Given the description of an element on the screen output the (x, y) to click on. 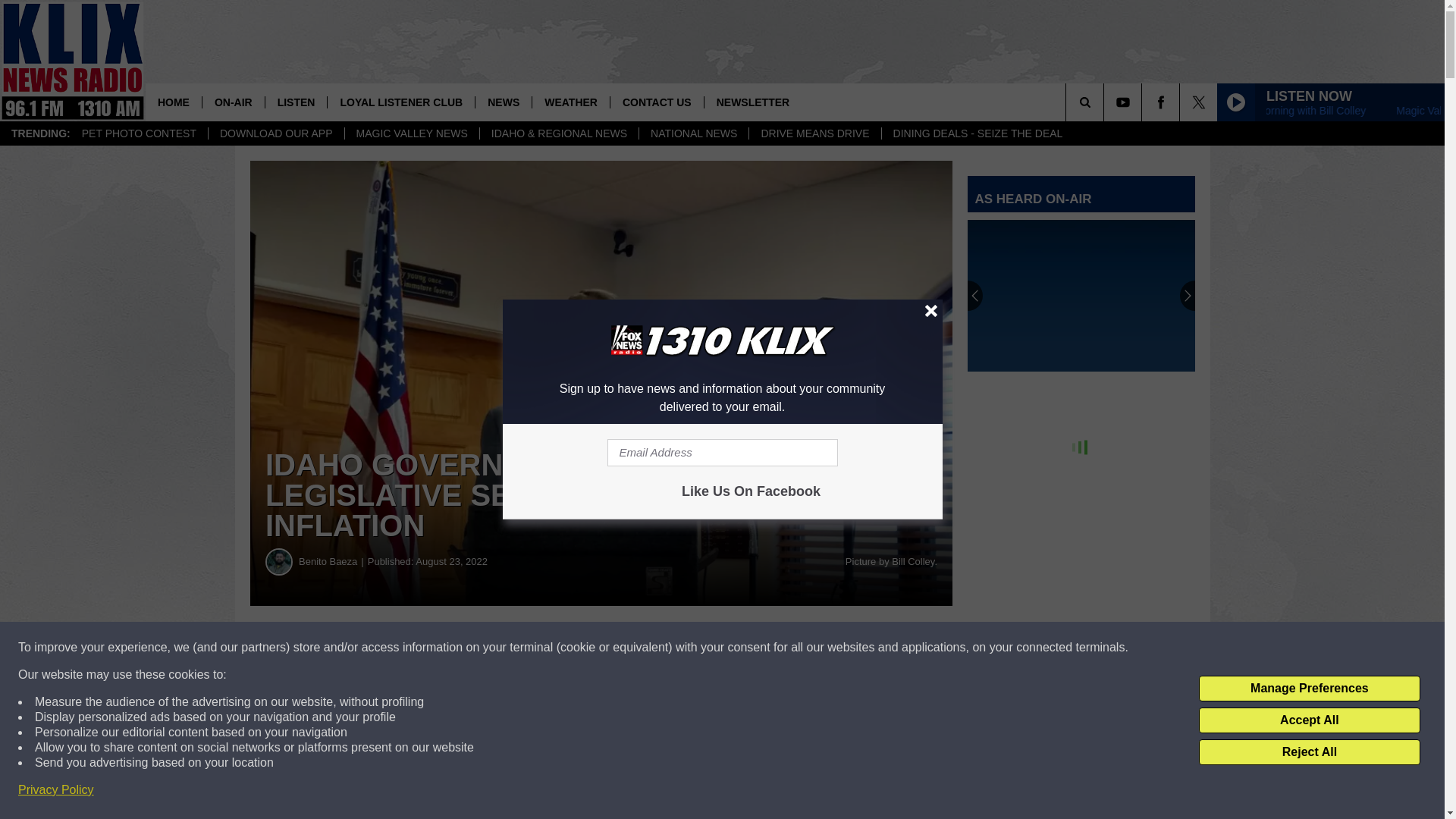
Privacy Policy (55, 789)
PET PHOTO CONTEST (138, 133)
DRIVE MEANS DRIVE (814, 133)
HOME (173, 102)
DINING DEALS - SEIZE THE DEAL (977, 133)
Reject All (1309, 751)
Email Address (722, 452)
LISTEN (295, 102)
NATIONAL NEWS (693, 133)
Manage Preferences (1309, 688)
ON-AIR (233, 102)
DOWNLOAD OUR APP (275, 133)
Share on Facebook (460, 647)
MAGIC VALLEY NEWS (411, 133)
LOYAL LISTENER CLUB (400, 102)
